Given the description of an element on the screen output the (x, y) to click on. 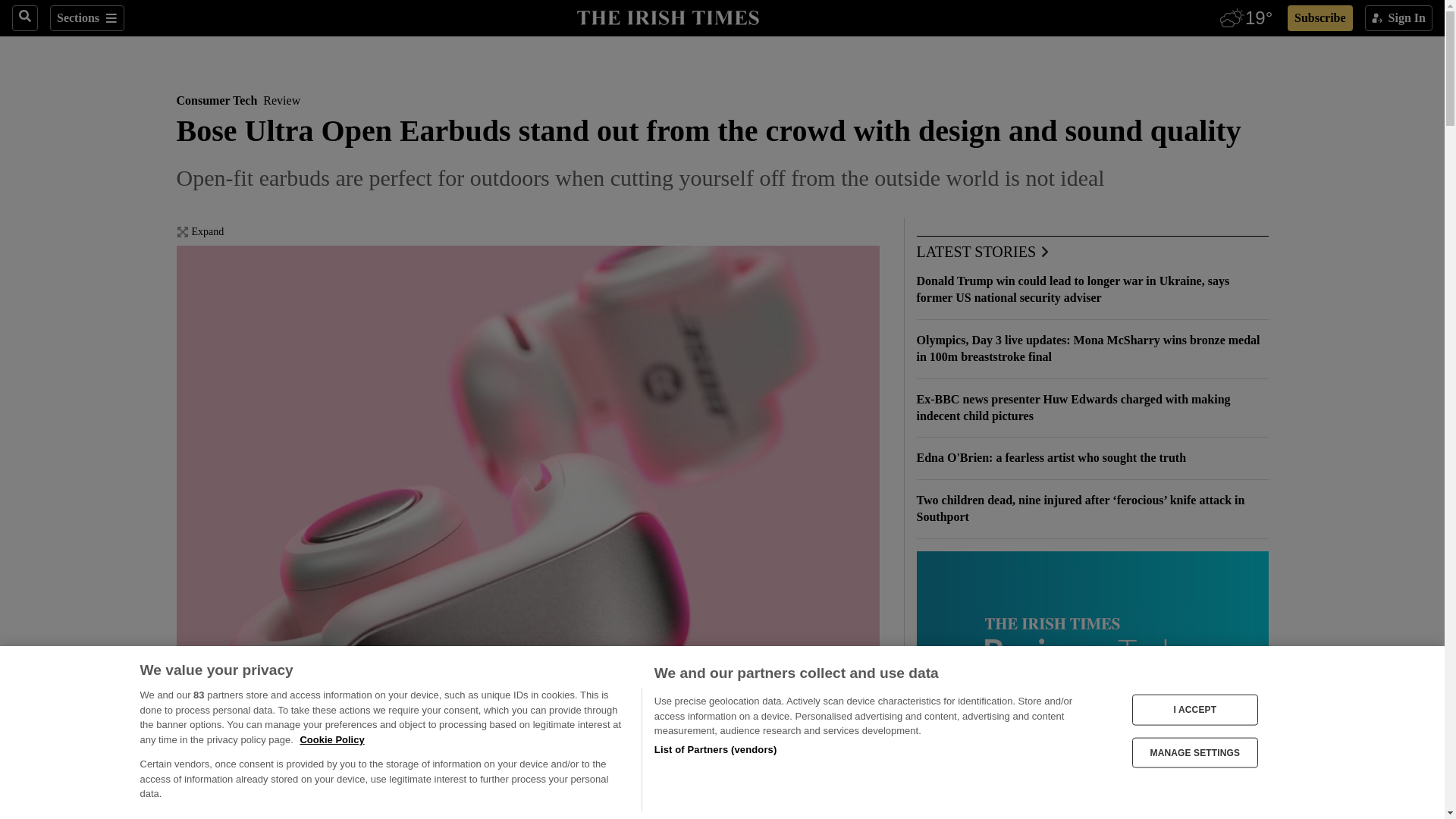
Sections (86, 17)
Sign In (1398, 17)
The Irish Times (667, 16)
Subscribe (1319, 17)
